Given the description of an element on the screen output the (x, y) to click on. 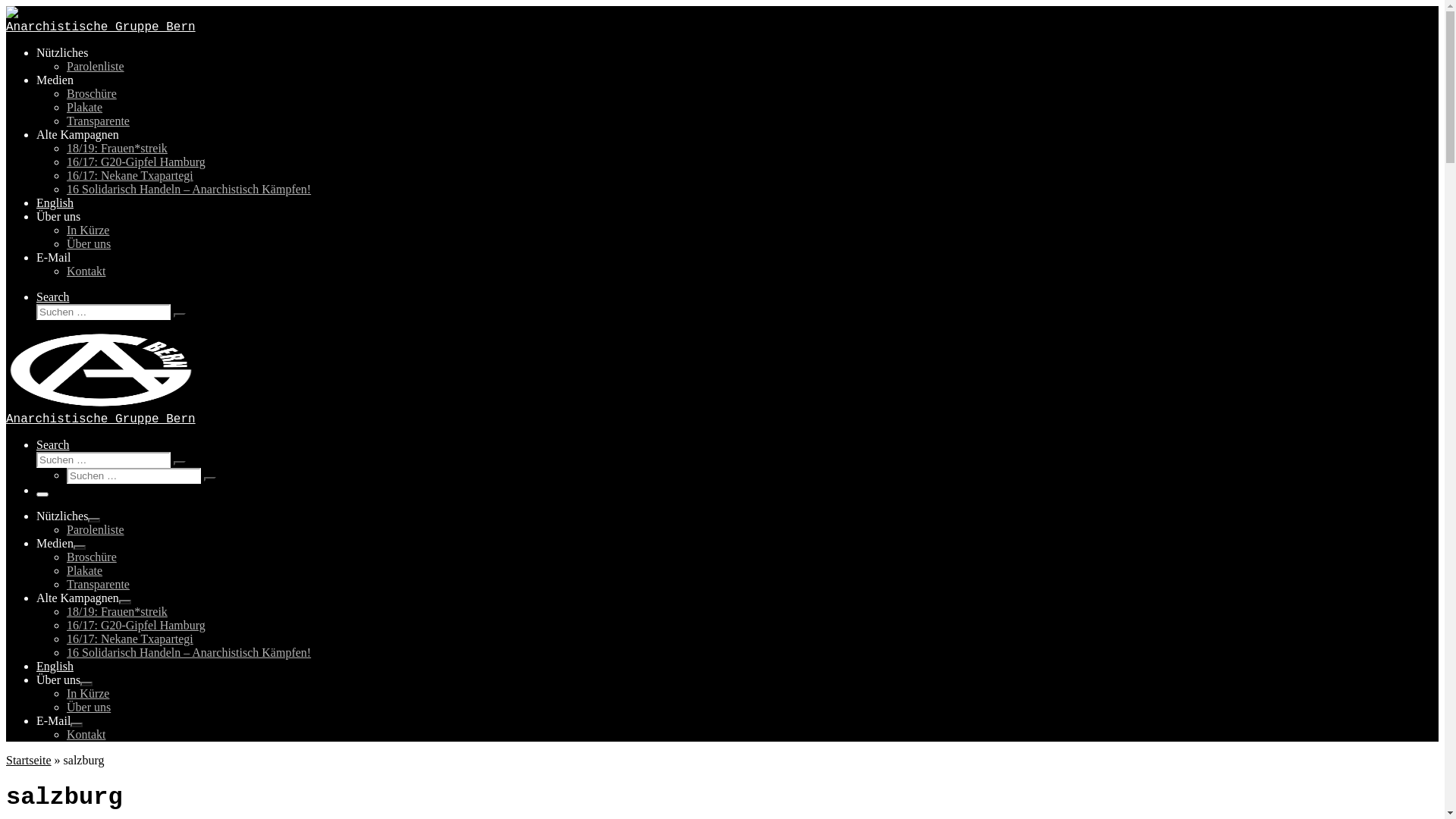
English Element type: text (54, 202)
Kontakt Element type: text (86, 270)
Anarchistische Gruppe Bern Element type: text (100, 27)
E-Mail Element type: text (53, 257)
Search Element type: text (52, 296)
Medien Element type: text (54, 79)
Plakate Element type: text (84, 570)
18/19: Frauen*streik Element type: text (116, 611)
E-Mail Element type: text (53, 720)
Anarchistische Gruppe Bern Element type: text (100, 419)
16/17: G20-Gipfel Hamburg Element type: text (135, 624)
Parolenliste Element type: text (95, 65)
Transparente Element type: text (97, 583)
Zum Inhalt springen Element type: text (5, 5)
Kontakt Element type: text (86, 734)
English Element type: text (54, 665)
Transparente Element type: text (97, 120)
16/17: Nekane Txapartegi Element type: text (129, 175)
Plakate Element type: text (84, 106)
Parolenliste Element type: text (95, 529)
Search Element type: text (52, 444)
18/19: Frauen*streik Element type: text (116, 147)
16/17: G20-Gipfel Hamburg Element type: text (135, 161)
Alte Kampagnen Element type: text (77, 134)
Alte Kampagnen Element type: text (77, 597)
16/17: Nekane Txapartegi Element type: text (129, 638)
Startseite Element type: text (28, 759)
Medien Element type: text (54, 542)
